Given the description of an element on the screen output the (x, y) to click on. 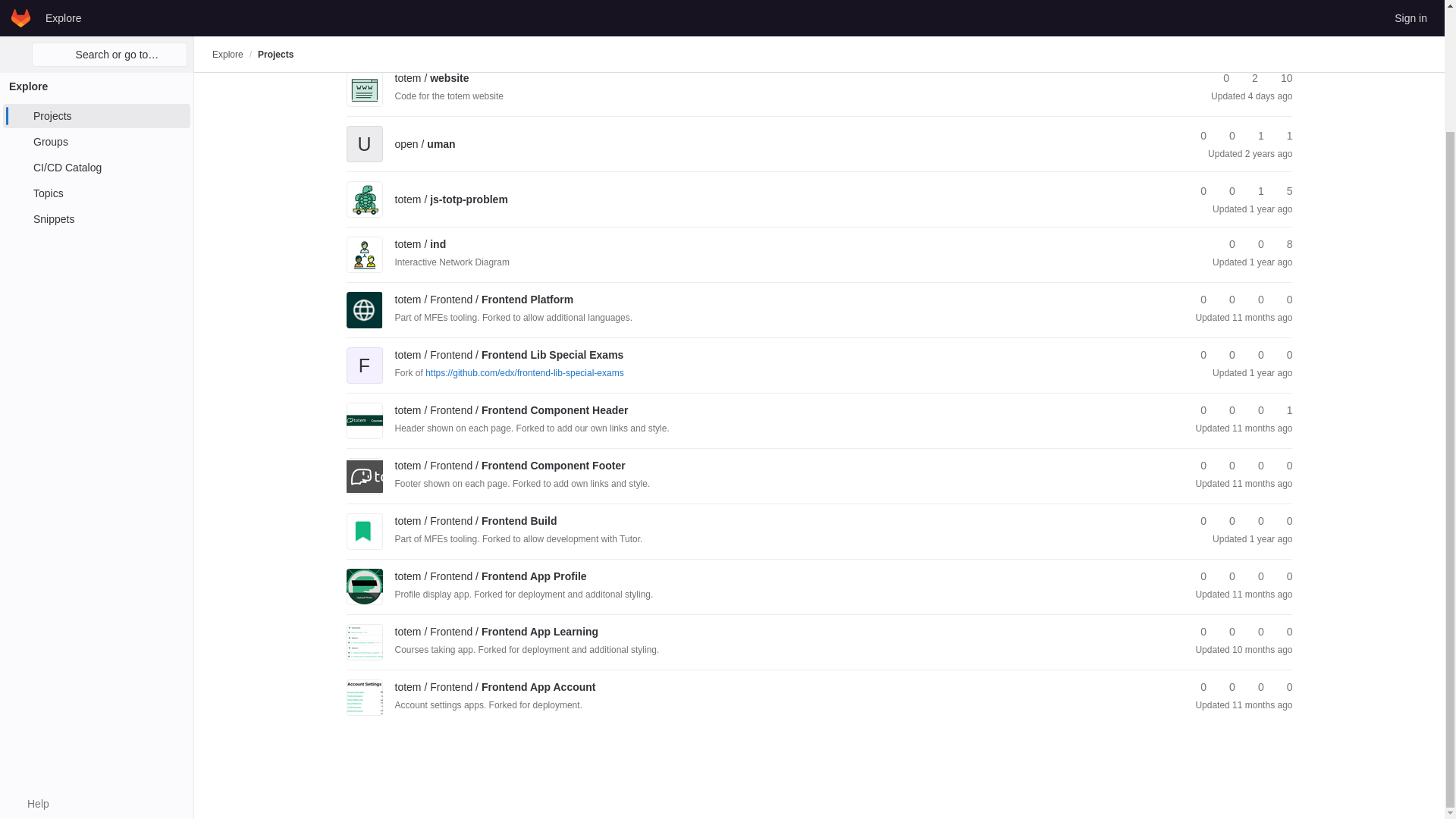
Trending (457, 4)
Stars (1218, 78)
0 (1218, 78)
Inactive (561, 4)
Merge requests (1253, 135)
Clear (1243, 33)
website (431, 78)
Snippets (96, 72)
All (604, 4)
Stars (1196, 135)
Topics (96, 46)
Active (510, 4)
Most starred (387, 4)
uman (424, 143)
Help (30, 657)
